Given the description of an element on the screen output the (x, y) to click on. 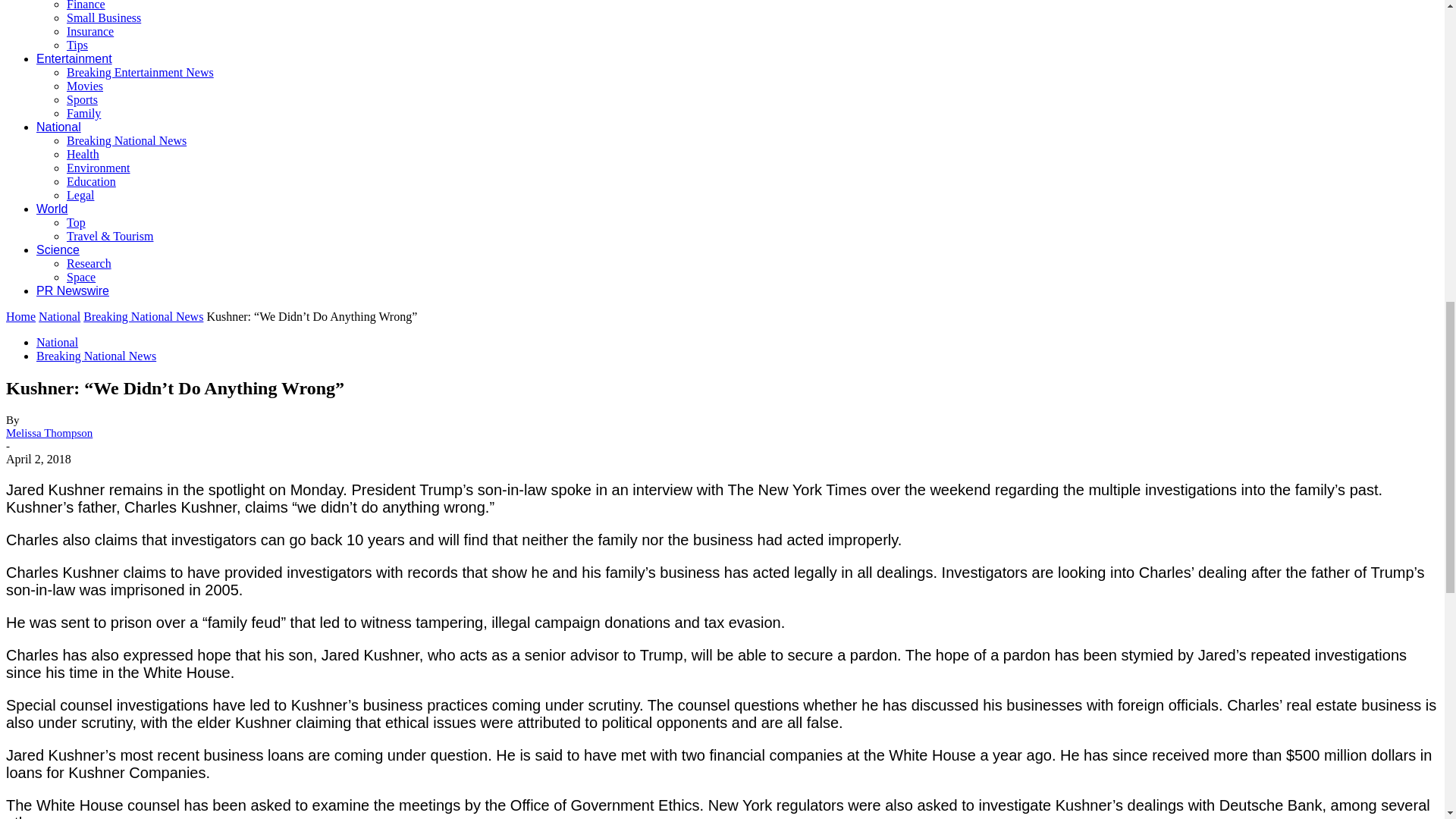
View all posts in National (59, 316)
View all posts in Breaking National News (142, 316)
